Given the description of an element on the screen output the (x, y) to click on. 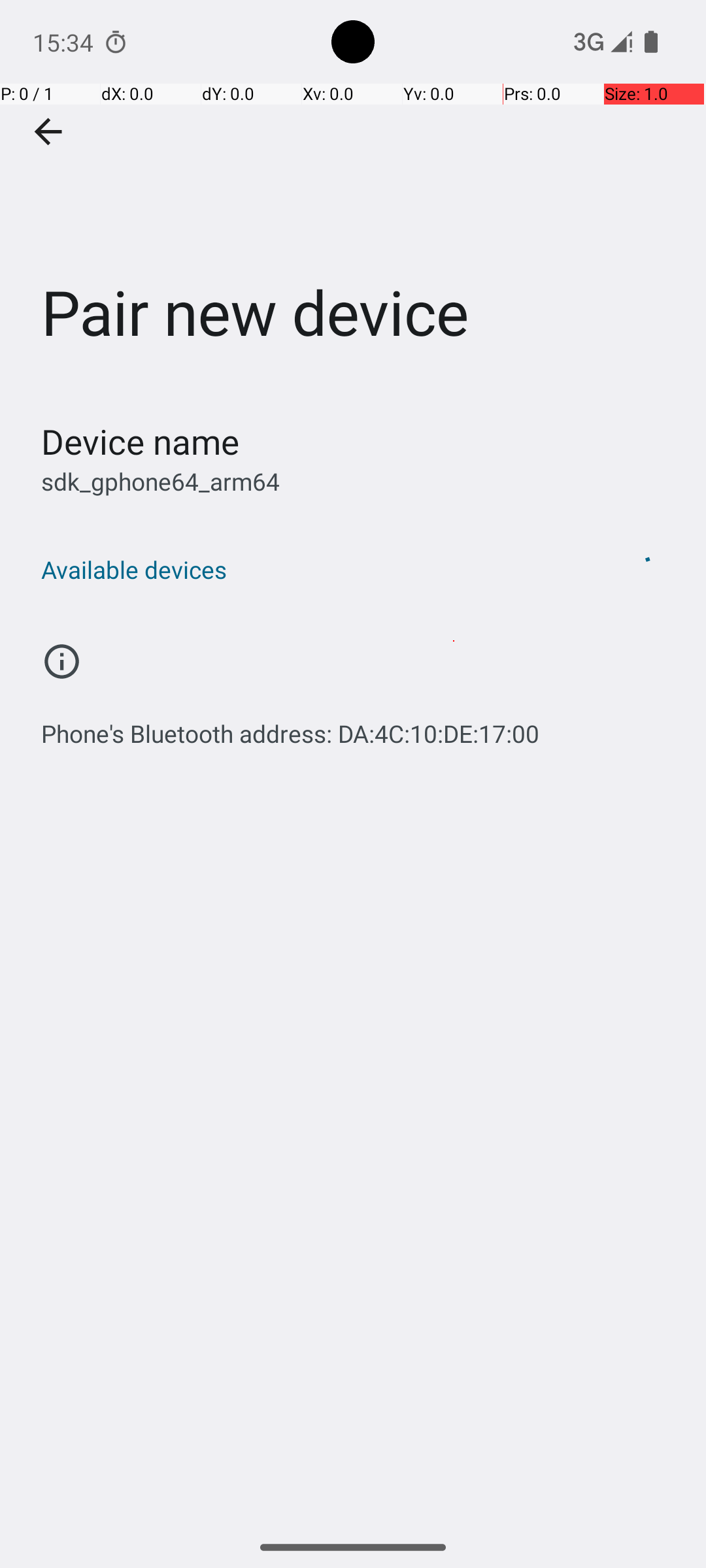
Available devices Element type: android.widget.TextView (318, 569)
Phone's Bluetooth address: DA:4C:10:DE:17:00 Element type: android.widget.TextView (290, 726)
